Given the description of an element on the screen output the (x, y) to click on. 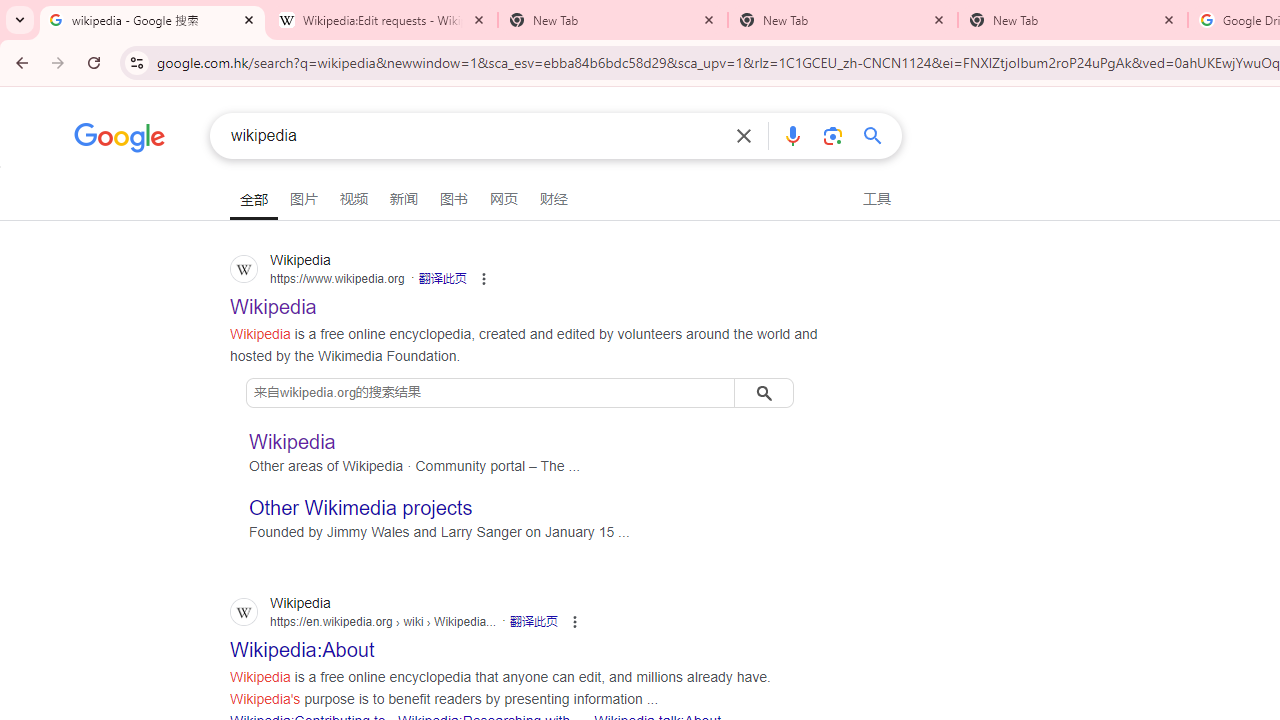
System (10, 11)
Forward (57, 62)
 Wikipedia Wikipedia https://www.wikipedia.org (273, 300)
Close (1168, 19)
View site information (136, 62)
Other Wikimedia projects (361, 507)
New Tab (1072, 20)
